Given the description of an element on the screen output the (x, y) to click on. 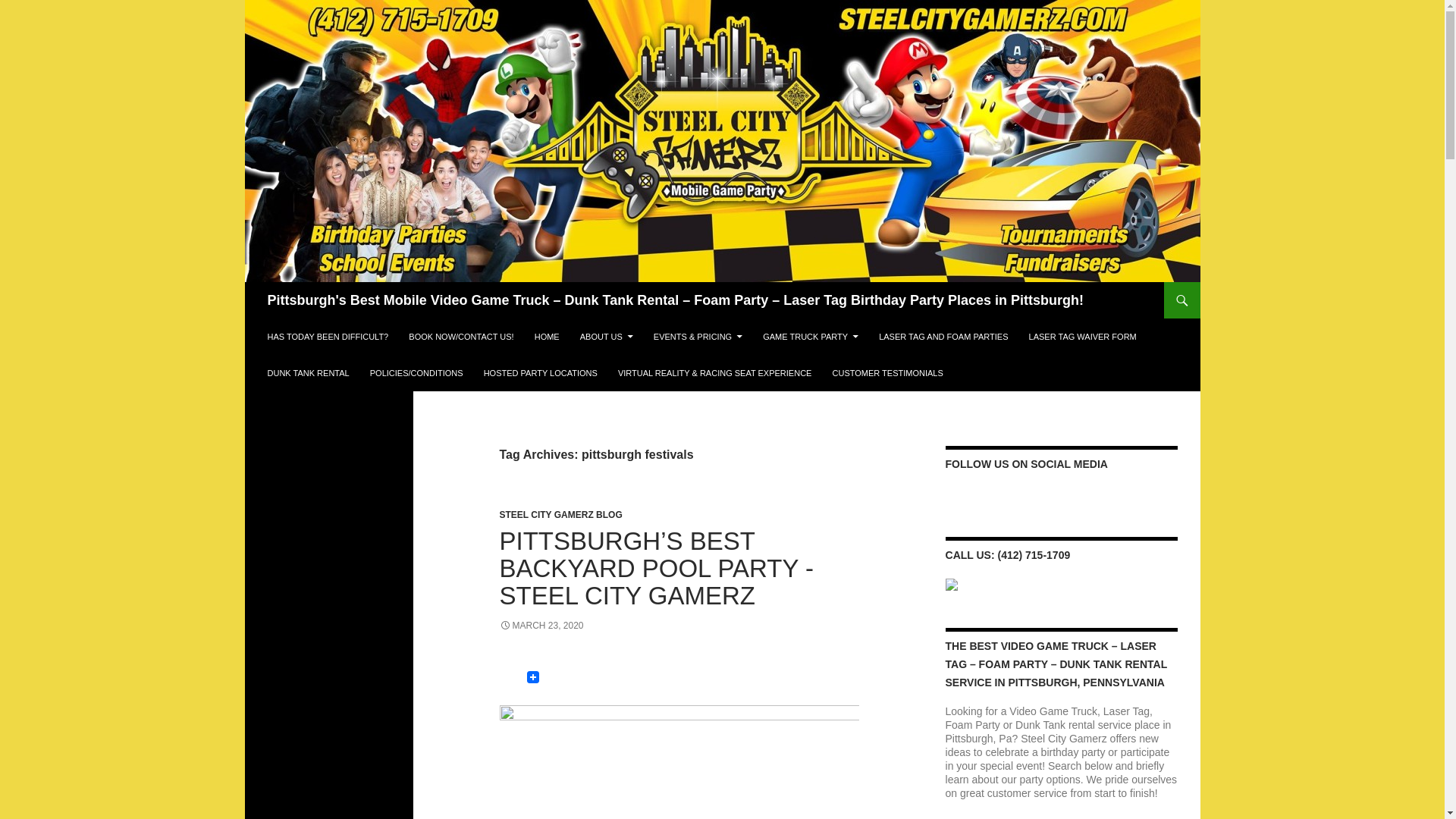
LASER TAG WAIVER FORM (1082, 336)
HOME (547, 336)
CUSTOMER TESTIMONIALS (888, 372)
ABOUT US (606, 336)
STEEL CITY GAMERZ BLOG (560, 514)
HOSTED PARTY LOCATIONS (540, 372)
HAS TODAY BEEN DIFFICULT? (327, 336)
LASER TAG AND FOAM PARTIES (942, 336)
DUNK TANK RENTAL (307, 372)
MARCH 23, 2020 (541, 624)
GAME TRUCK PARTY (810, 336)
